Given the description of an element on the screen output the (x, y) to click on. 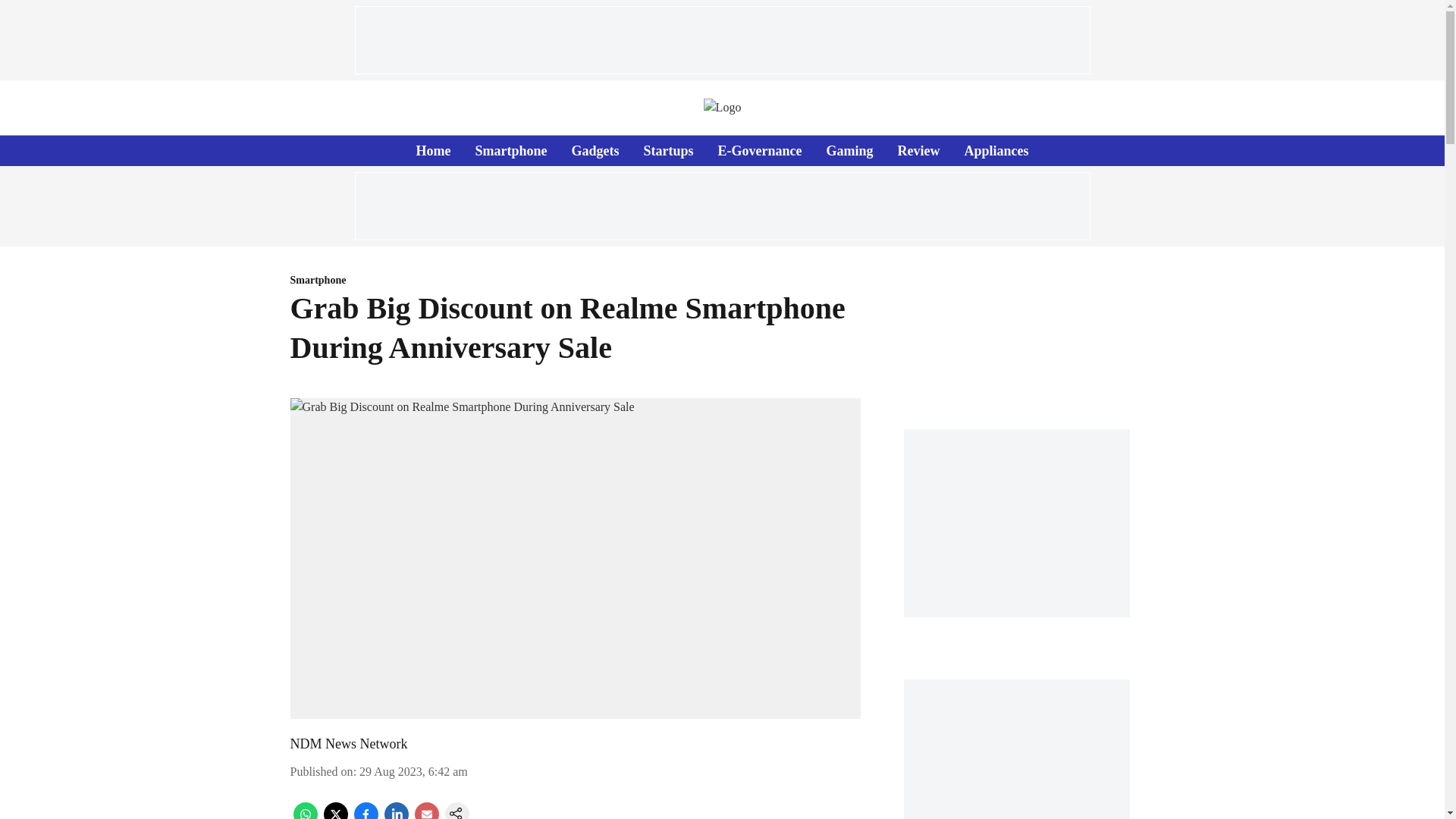
Home (431, 150)
E-Governance (759, 150)
Review (919, 150)
Appliances (995, 150)
Gadgets (594, 150)
Startups (668, 150)
Smartphone (574, 280)
NDM News Network (348, 743)
Gaming (848, 150)
